Given the description of an element on the screen output the (x, y) to click on. 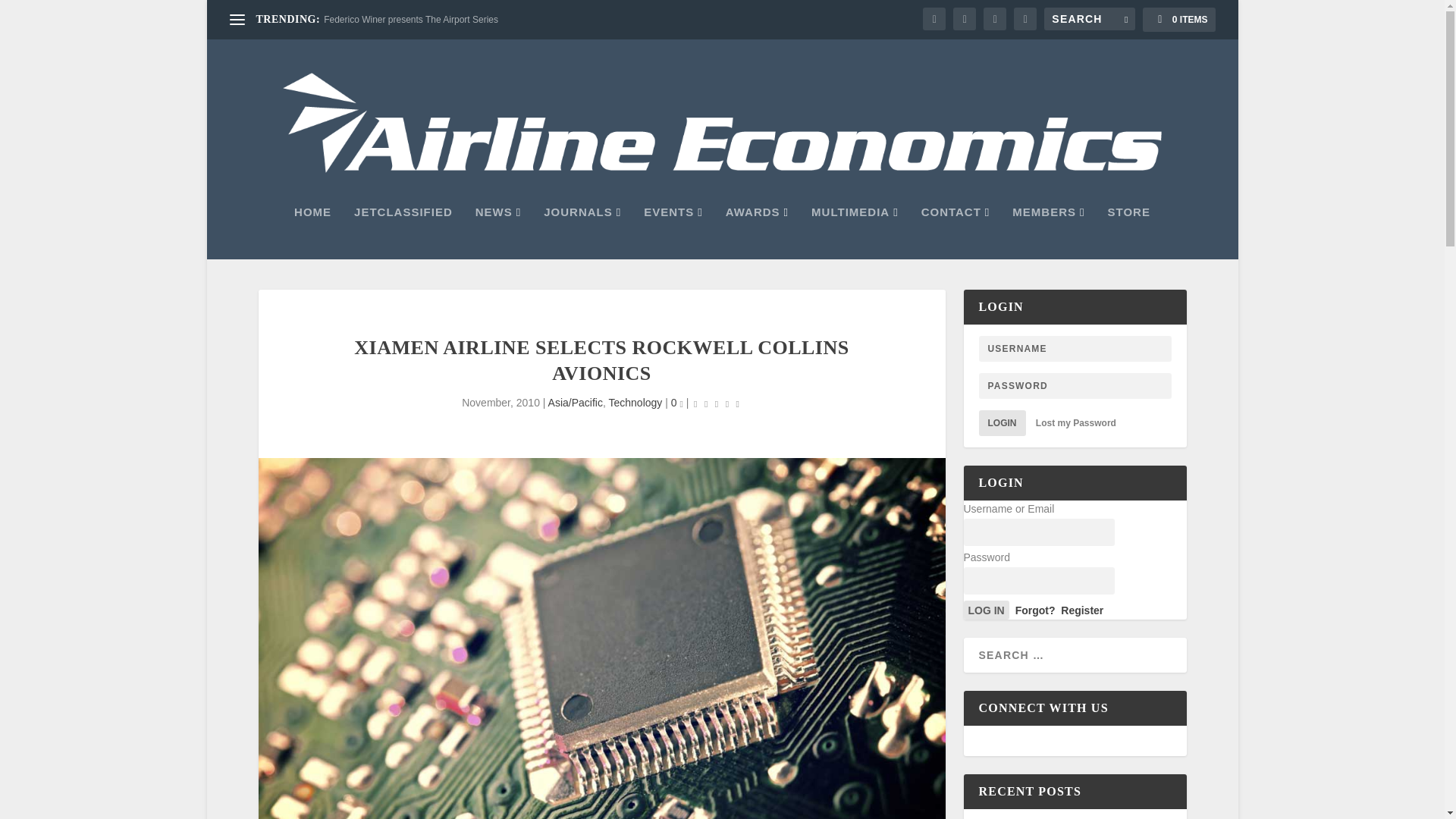
JOURNALS (582, 232)
Federico Winer presents The Airport Series (410, 19)
Rating: 0.00 (716, 403)
JETCLASSIFIED (402, 232)
log in (985, 609)
